Given the description of an element on the screen output the (x, y) to click on. 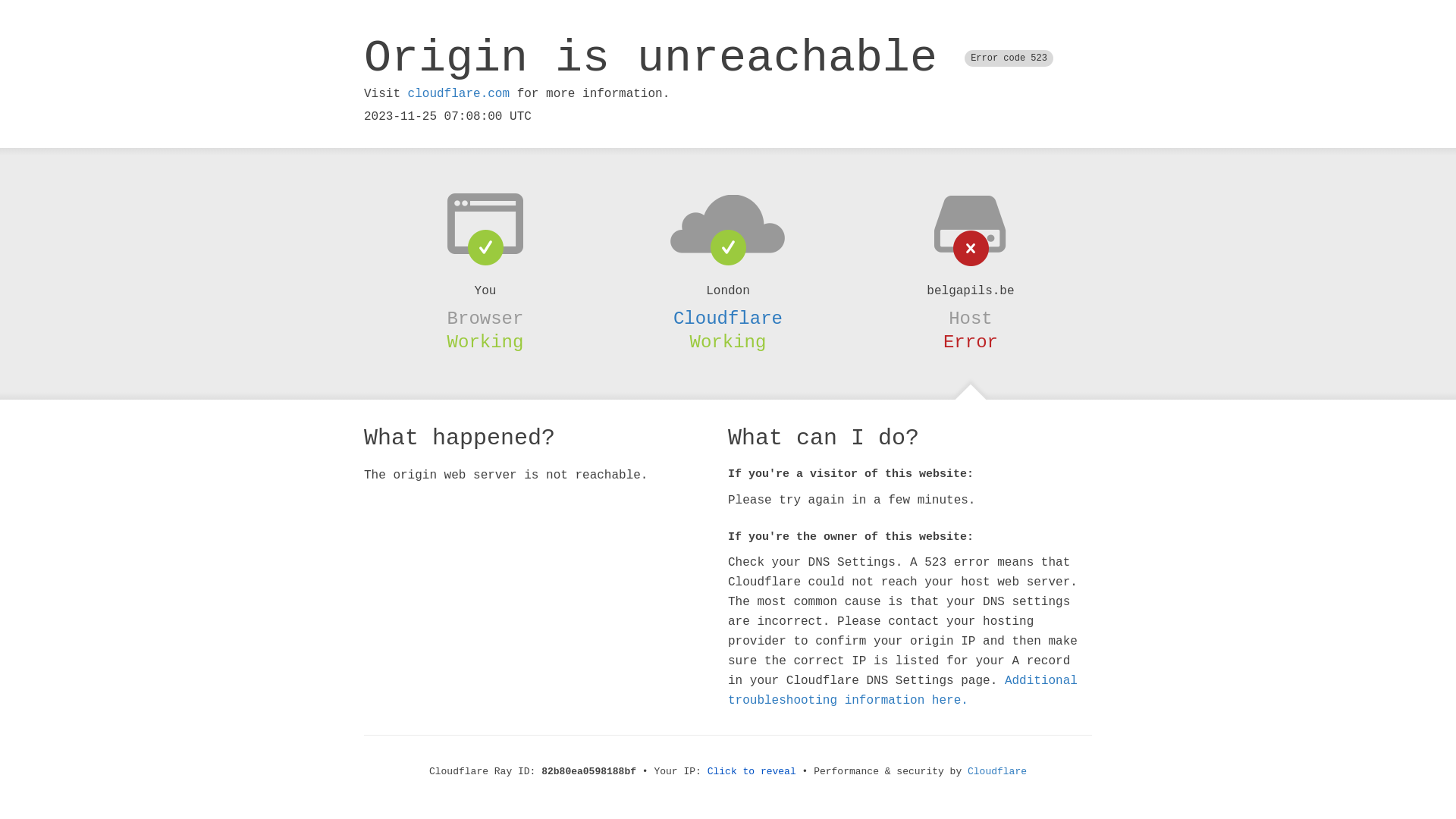
Cloudflare Element type: text (727, 318)
cloudflare.com Element type: text (458, 93)
Additional troubleshooting information here. Element type: text (902, 690)
Click to reveal Element type: text (751, 771)
Cloudflare Element type: text (996, 771)
